Given the description of an element on the screen output the (x, y) to click on. 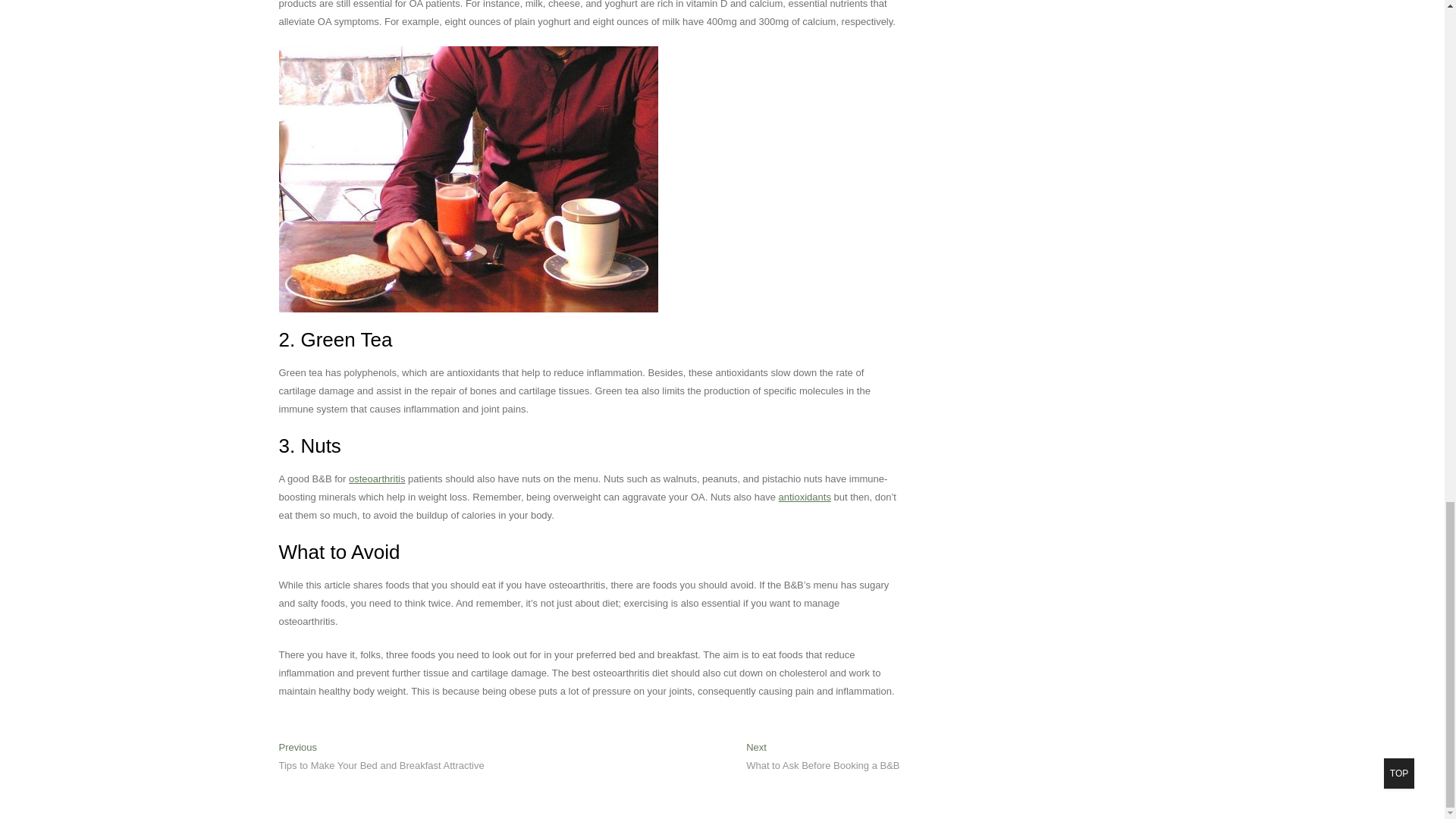
osteoarthritis (376, 478)
antioxidants (804, 496)
